Given the description of an element on the screen output the (x, y) to click on. 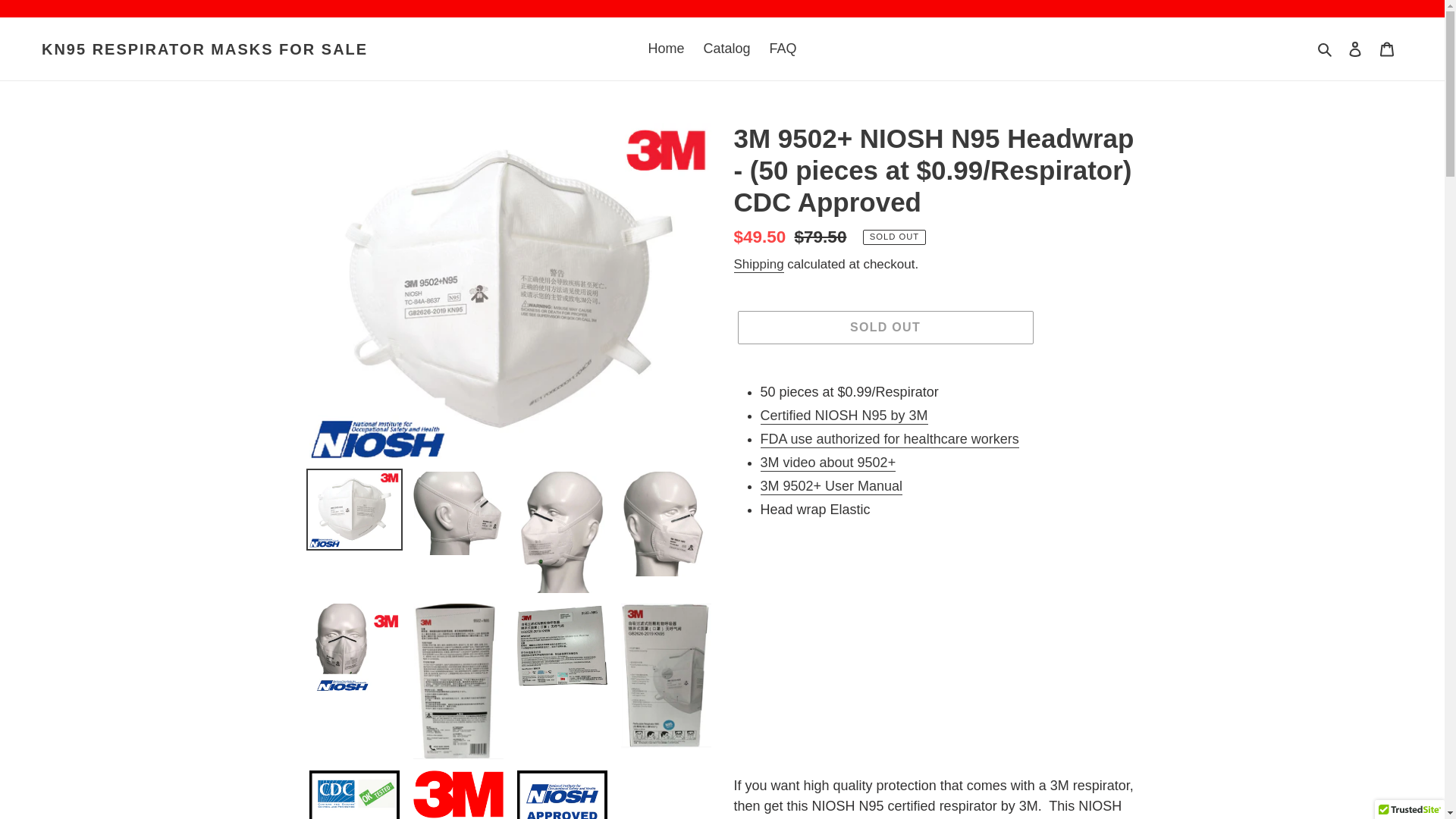
SOLD OUT (884, 327)
Shipping (758, 264)
KN95 RESPIRATOR MASKS FOR SALE (205, 48)
Cart (1387, 48)
FDA use authorized for healthcare workers (888, 439)
FDA healthcare (888, 439)
Search (1326, 48)
Log in (1355, 48)
3m noish (843, 416)
FAQ (783, 48)
Home (665, 48)
Certified NIOSH N95 by 3M (843, 416)
Catalog (726, 48)
